Given the description of an element on the screen output the (x, y) to click on. 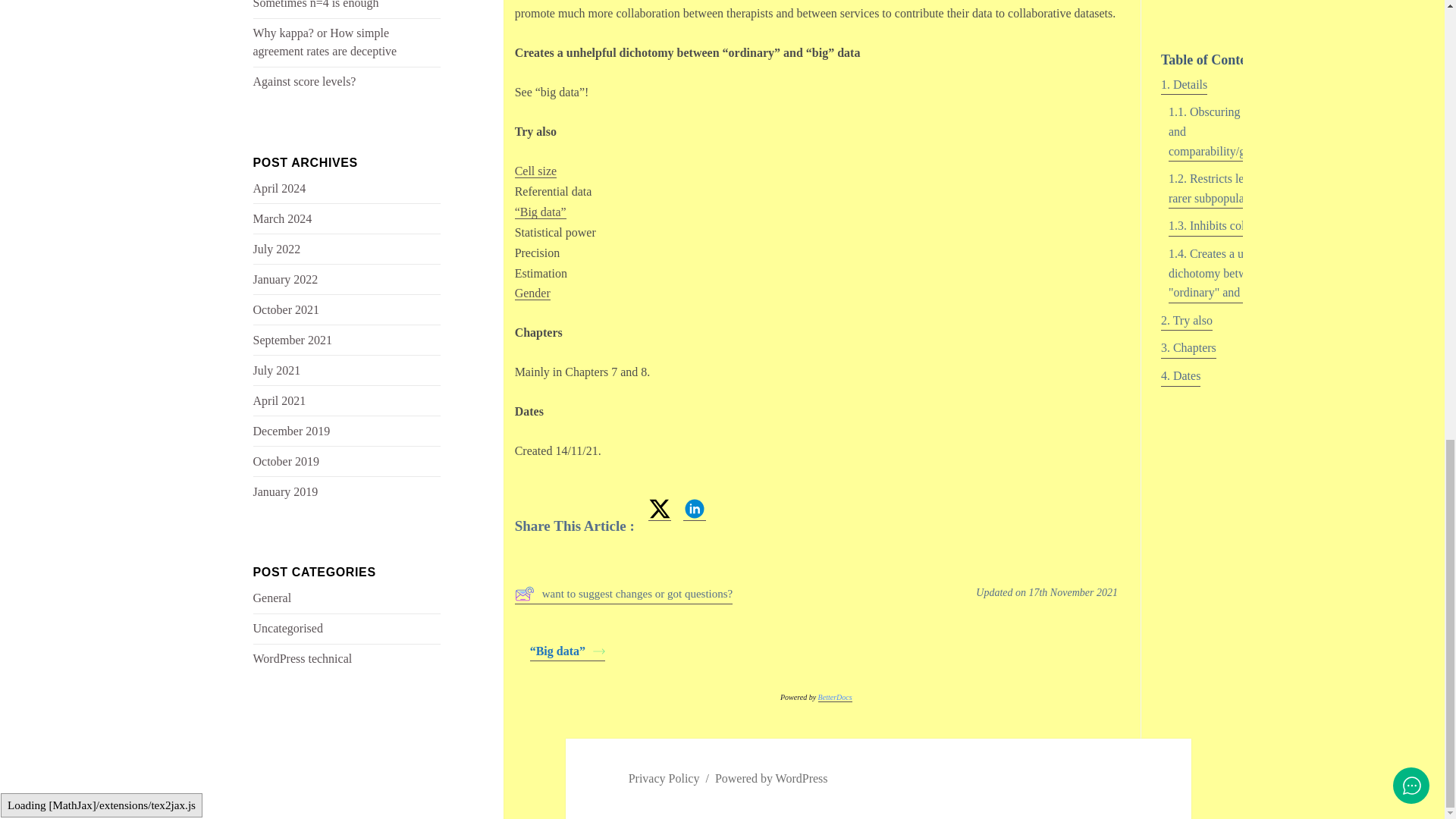
General (272, 597)
September 2021 (292, 339)
January 2019 (285, 491)
Against score levels? (304, 81)
July 2021 (277, 369)
Uncategorised (288, 627)
December 2019 (291, 431)
January 2022 (285, 278)
October 2019 (286, 461)
April 2021 (279, 400)
